Given the description of an element on the screen output the (x, y) to click on. 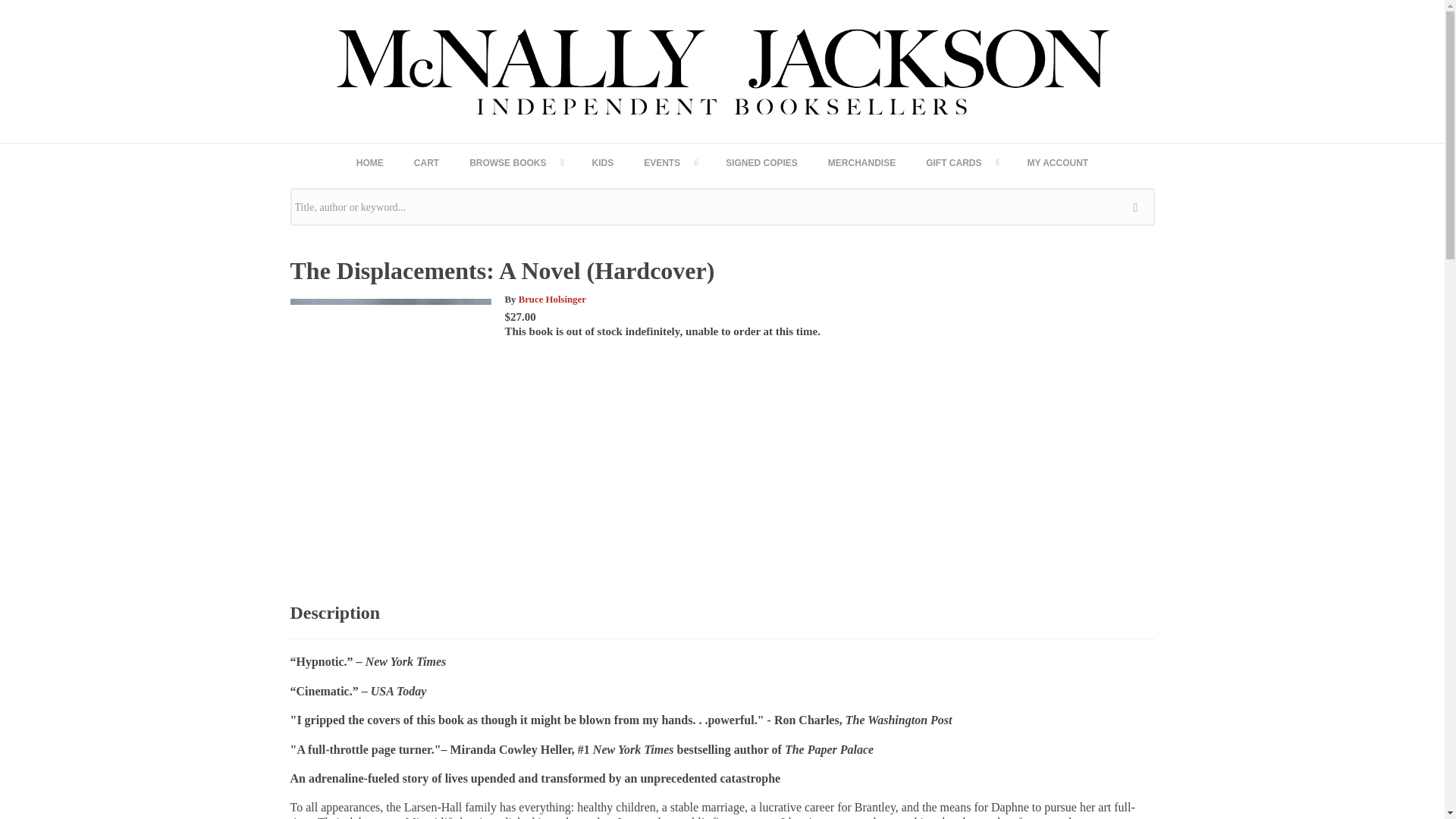
MERCHANDISE (861, 162)
SIGNED COPIES (761, 162)
BROWSE BOOKS (515, 162)
Title, author or keyword... (721, 207)
GIFT CARDS (961, 162)
CART (426, 162)
Bruce Holsinger (552, 299)
HOME (369, 162)
KIDS (602, 162)
EVENTS (669, 162)
